Given the description of an element on the screen output the (x, y) to click on. 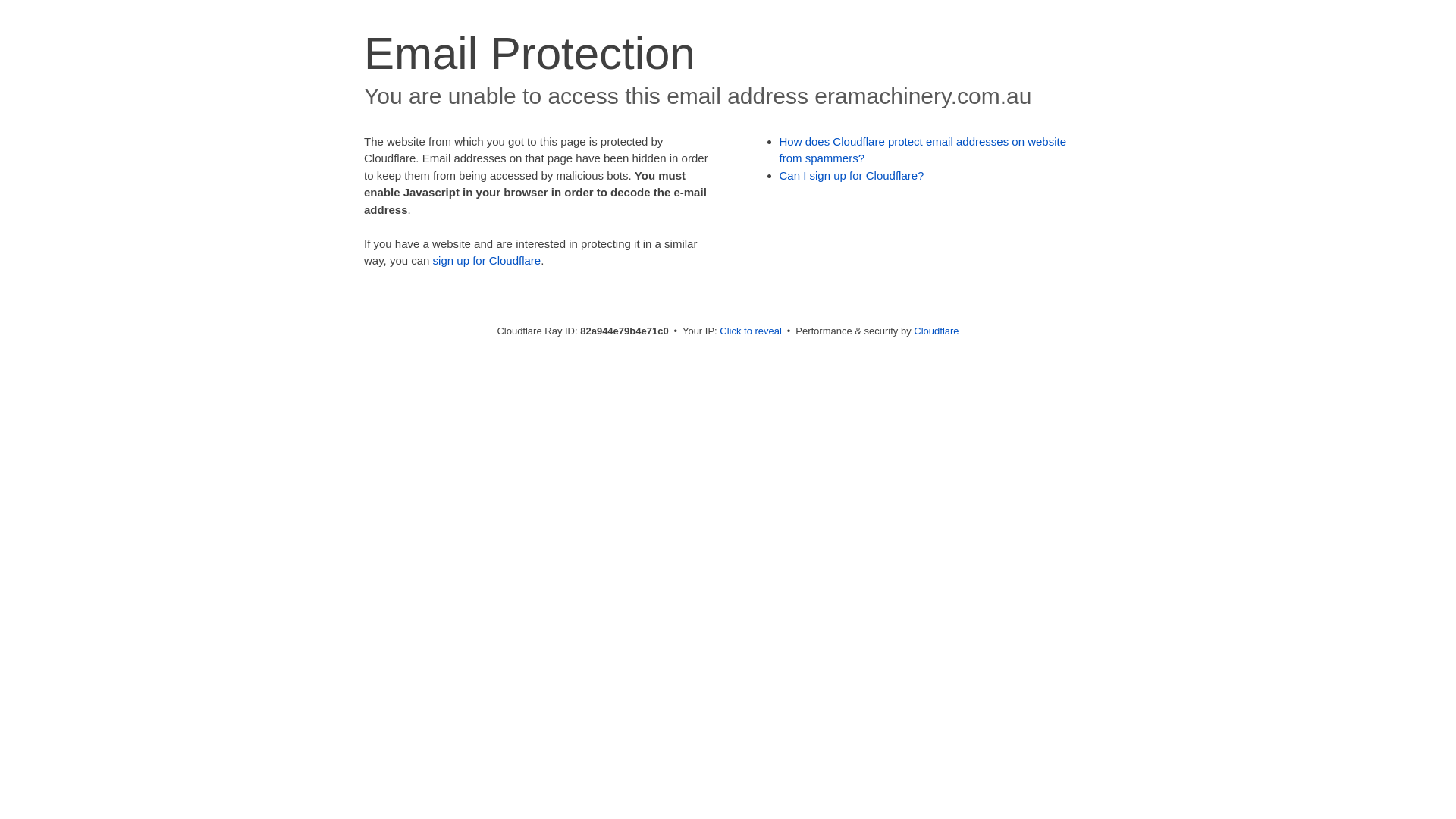
Click to reveal Element type: text (750, 330)
sign up for Cloudflare Element type: text (487, 260)
Can I sign up for Cloudflare? Element type: text (851, 175)
Cloudflare Element type: text (935, 330)
